Given the description of an element on the screen output the (x, y) to click on. 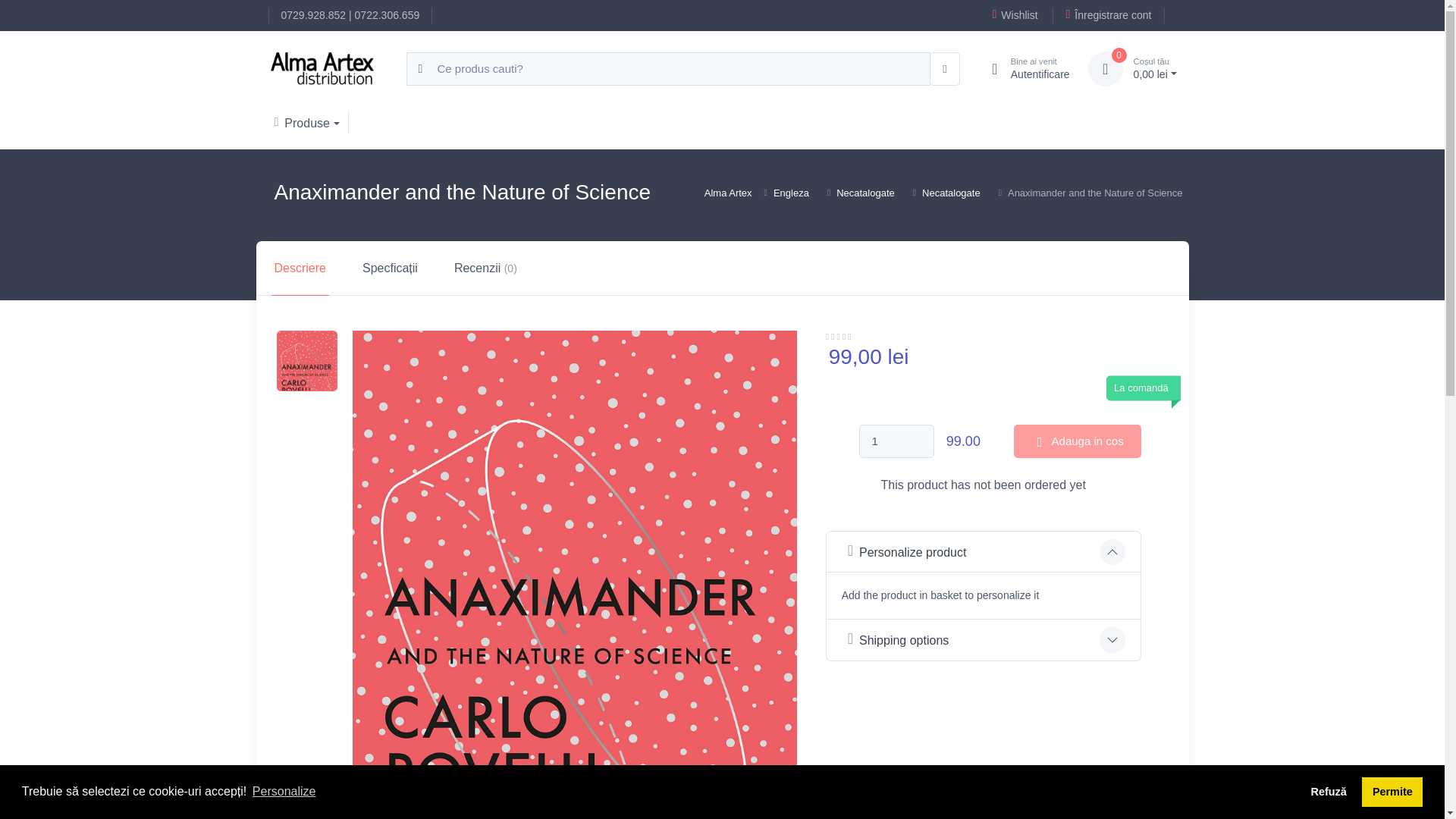
0729.928.852 (313, 15)
Wishlist (1013, 15)
1 (896, 441)
0 (1104, 68)
Permite (1391, 791)
0722.306.659 (387, 15)
Personalize (284, 791)
Produse (1023, 68)
